Given the description of an element on the screen output the (x, y) to click on. 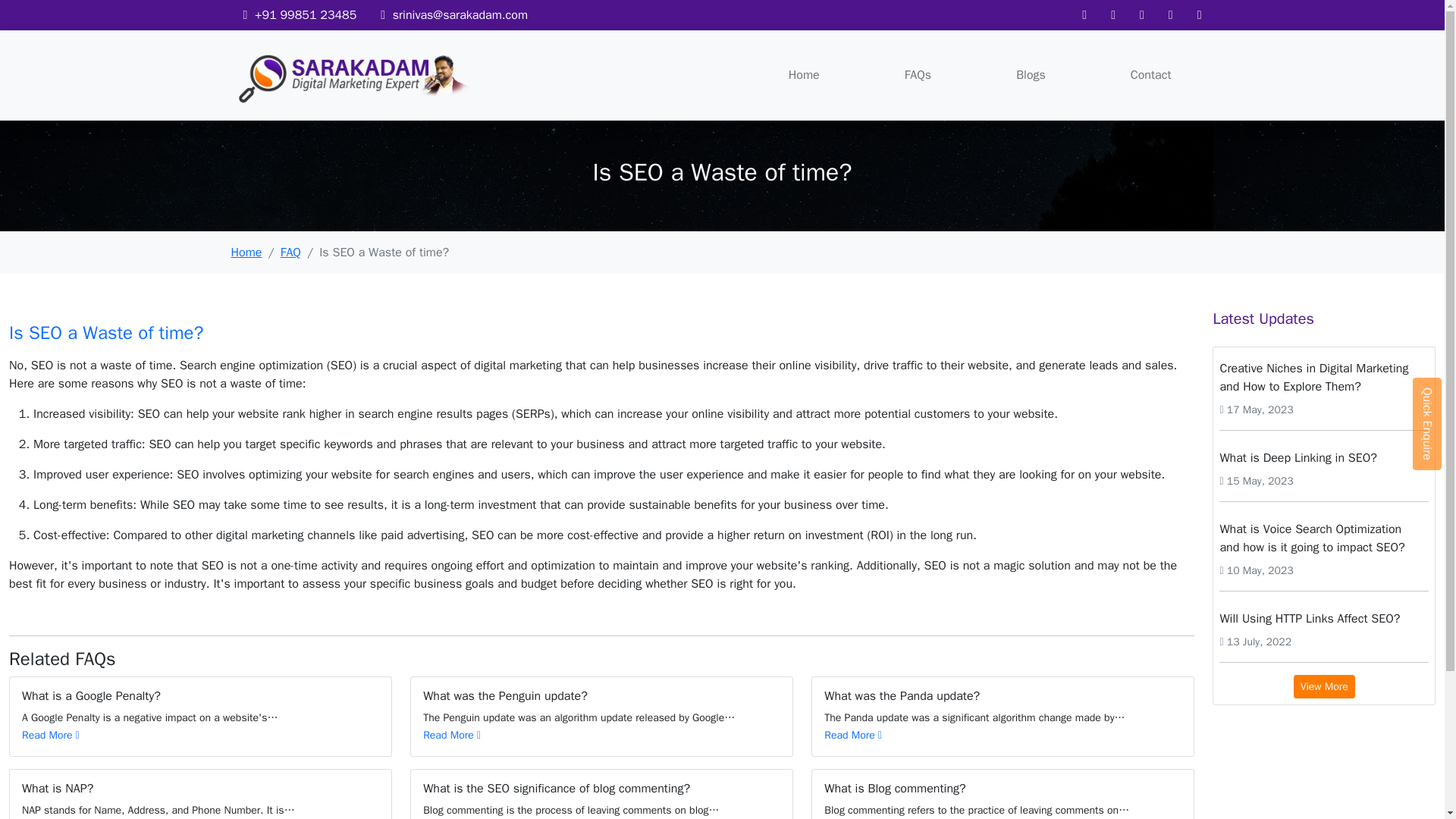
Home (804, 74)
FAQs (917, 74)
Home (246, 252)
What is Deep Linking in SEO? (1324, 458)
Will Using HTTP Links Affect SEO? (1324, 618)
Read More (451, 735)
Contact (1150, 74)
FAQ (291, 252)
Read More (853, 735)
View More (1324, 686)
Blogs (1030, 74)
Read More (50, 735)
